Given the description of an element on the screen output the (x, y) to click on. 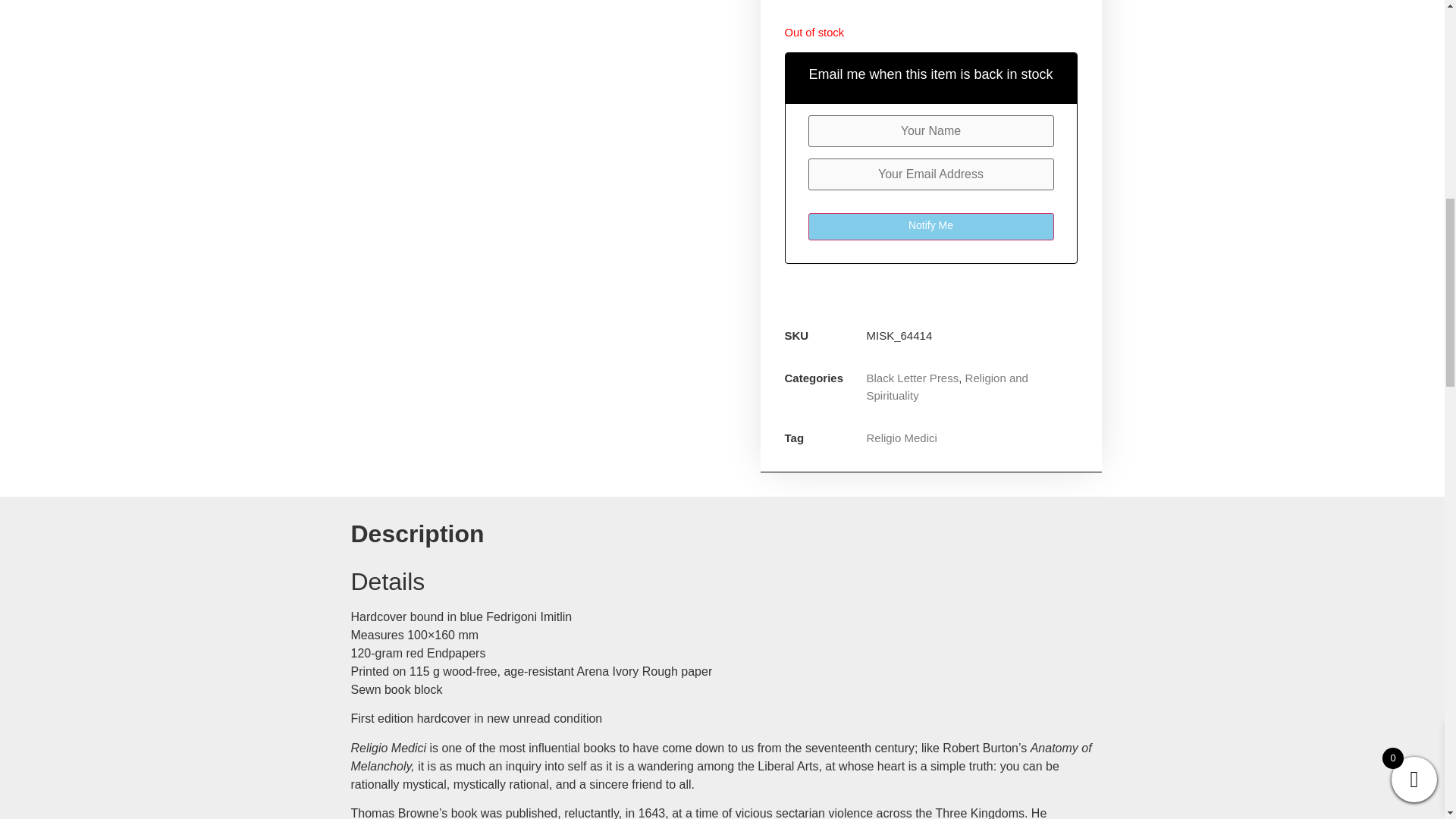
Notify Me (931, 226)
Notify Me (931, 226)
Religio Medici (901, 437)
Black Letter Press (912, 377)
Religion and Spirituality (946, 386)
